Given the description of an element on the screen output the (x, y) to click on. 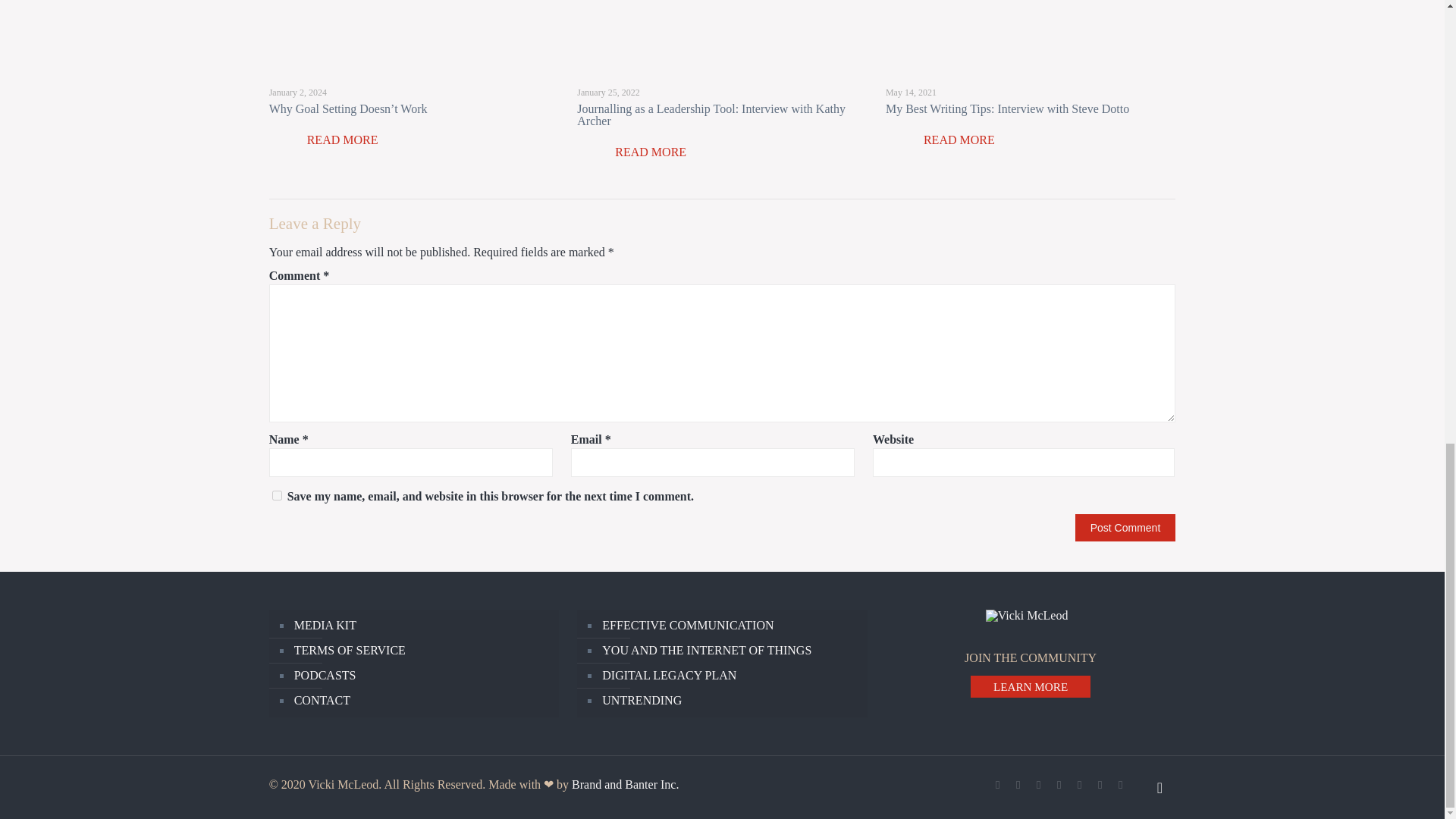
Patreon (1120, 784)
Twitter (1018, 784)
READ MORE (642, 152)
Instagram (1100, 784)
LinkedIn (1059, 784)
yes (277, 495)
My Best Writing Tips: Interview with Steve Dotto (1007, 108)
Facebook (998, 784)
READ MORE (951, 139)
